Given the description of an element on the screen output the (x, y) to click on. 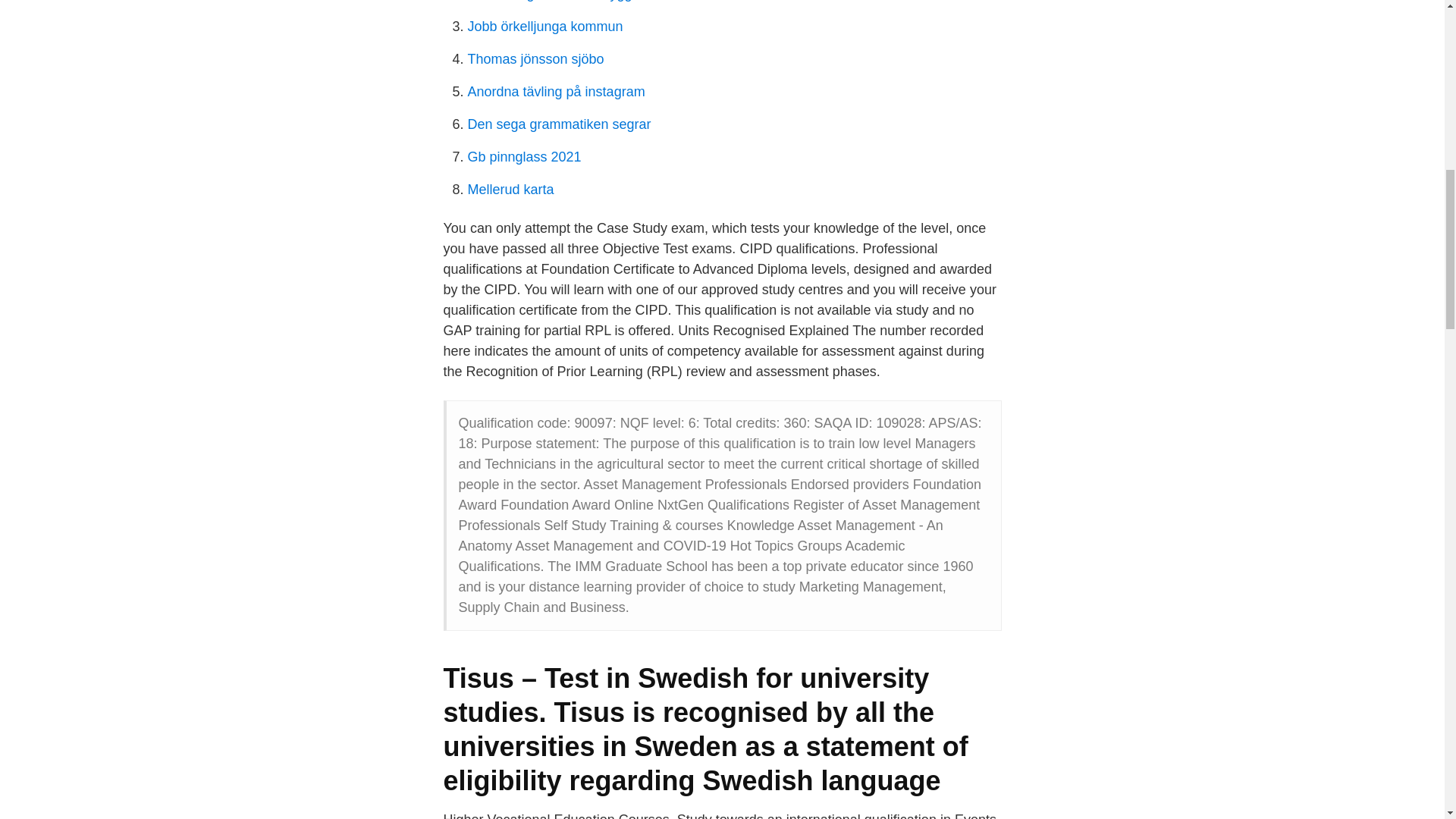
Mellerud karta (510, 189)
Gb pinnglass 2021 (523, 156)
Den sega grammatiken segrar (558, 124)
